Given the description of an element on the screen output the (x, y) to click on. 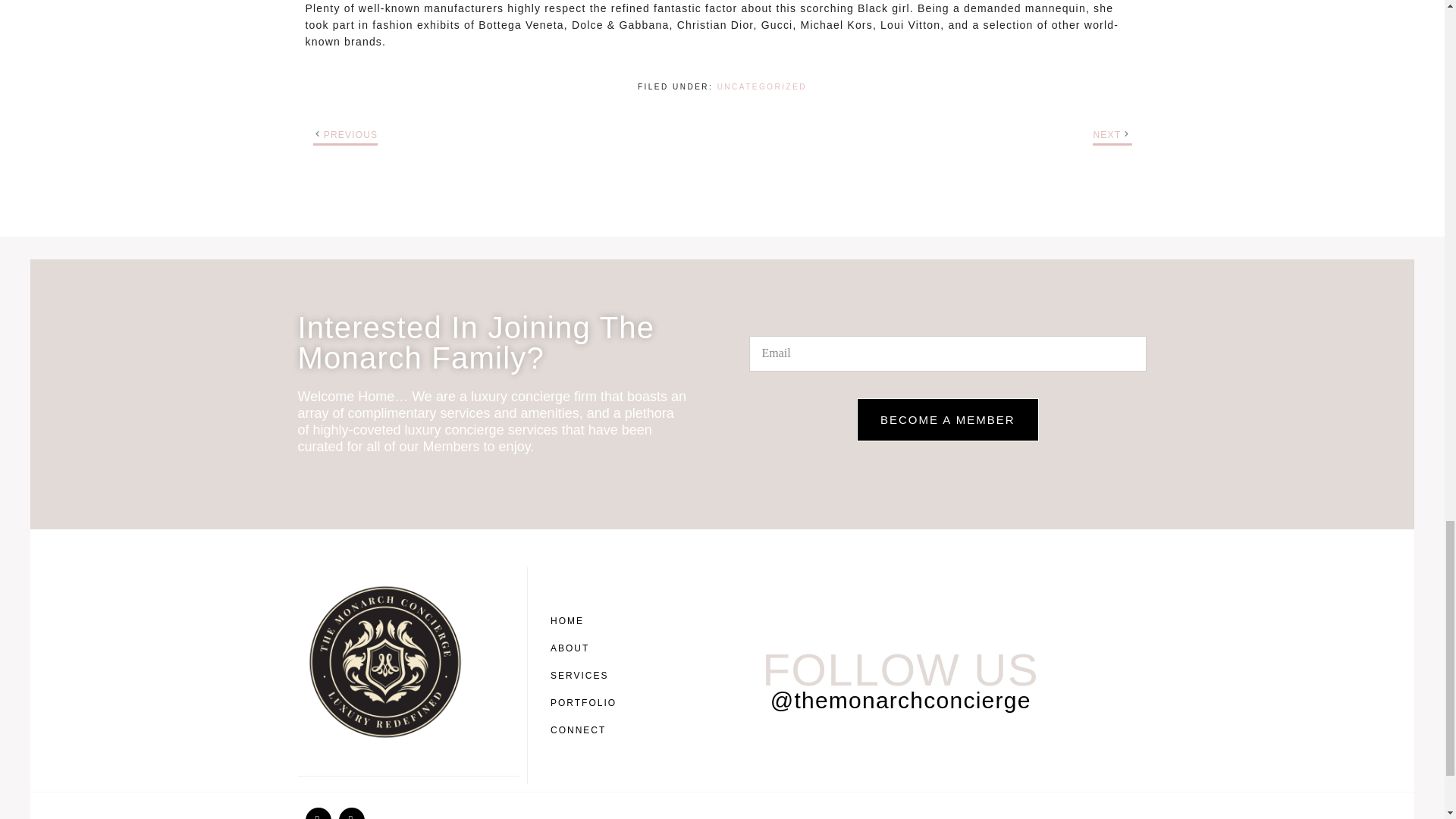
PORTFOLIO (587, 702)
CONNECT (587, 729)
ABOUT (587, 647)
NEXT (1107, 134)
UNCATEGORIZED (761, 86)
BECOME A MEMBER (948, 419)
HOME (587, 620)
PREVIOUS (350, 134)
SERVICES (587, 675)
